Given the description of an element on the screen output the (x, y) to click on. 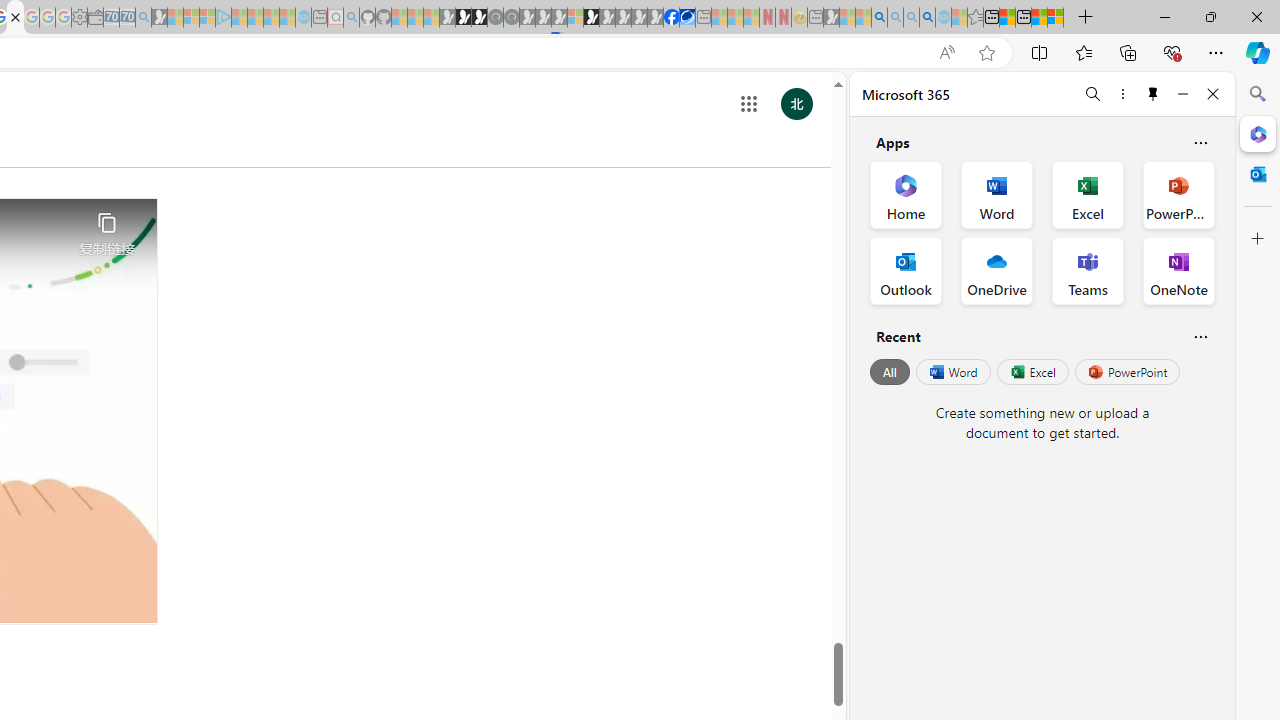
PowerPoint (1127, 372)
Word (952, 372)
OneNote Office App (1178, 270)
Future Focus Report 2024 - Sleeping (511, 17)
Excel Office App (1087, 194)
PowerPoint Office App (1178, 194)
